Given the description of an element on the screen output the (x, y) to click on. 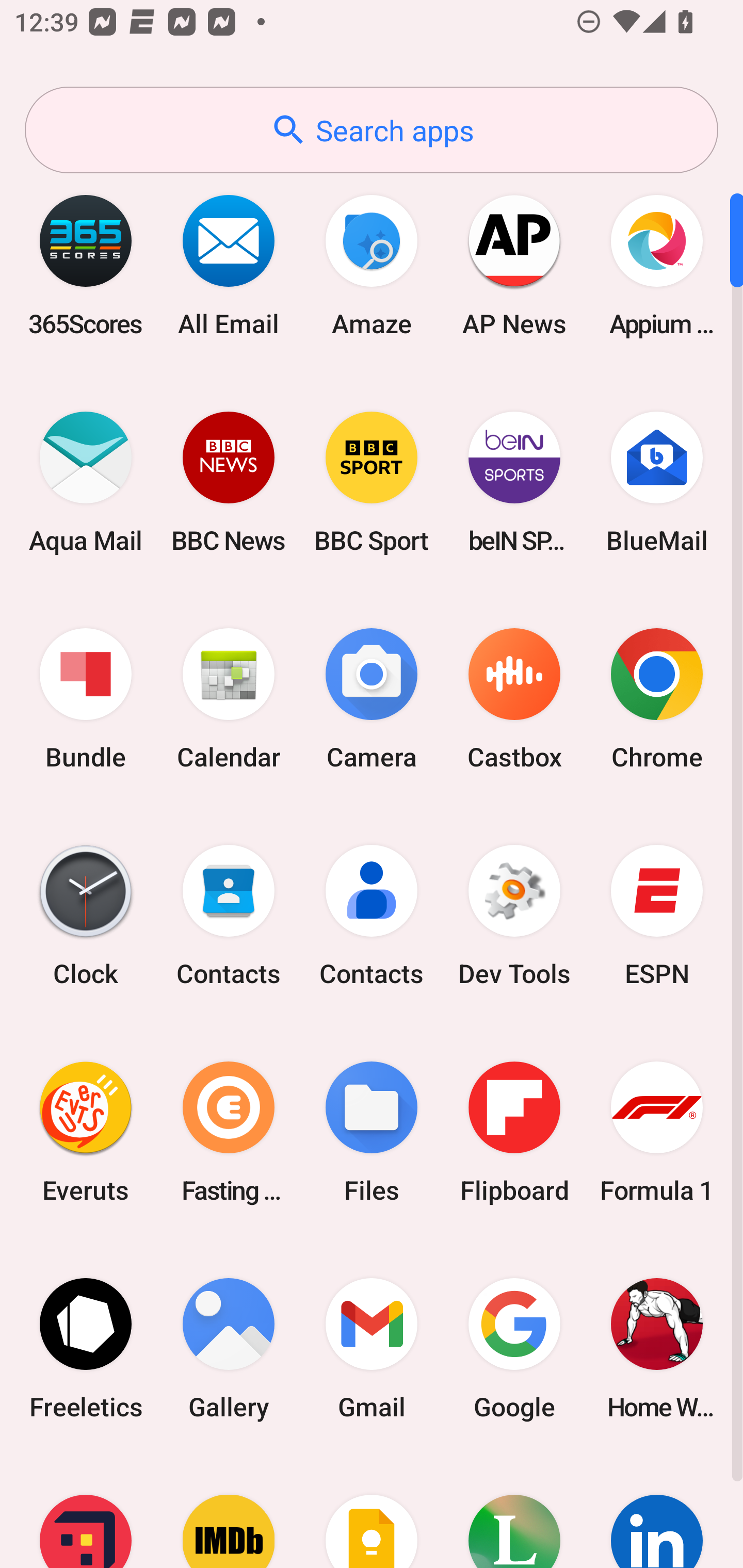
  Search apps (371, 130)
365Scores (85, 264)
All Email (228, 264)
Amaze (371, 264)
AP News (514, 264)
Appium Settings (656, 264)
Aqua Mail (85, 482)
BBC News (228, 482)
BBC Sport (371, 482)
beIN SPORTS (514, 482)
BlueMail (656, 482)
Bundle (85, 699)
Calendar (228, 699)
Camera (371, 699)
Castbox (514, 699)
Chrome (656, 699)
Clock (85, 915)
Contacts (228, 915)
Contacts (371, 915)
Dev Tools (514, 915)
ESPN (656, 915)
Everuts (85, 1131)
Fasting Coach (228, 1131)
Files (371, 1131)
Flipboard (514, 1131)
Formula 1 (656, 1131)
Freeletics (85, 1348)
Gallery (228, 1348)
Gmail (371, 1348)
Google (514, 1348)
Home Workout (656, 1348)
Hotels.com (85, 1512)
IMDb (228, 1512)
Keep Notes (371, 1512)
Lifesum (514, 1512)
LinkedIn (656, 1512)
